Given the description of an element on the screen output the (x, y) to click on. 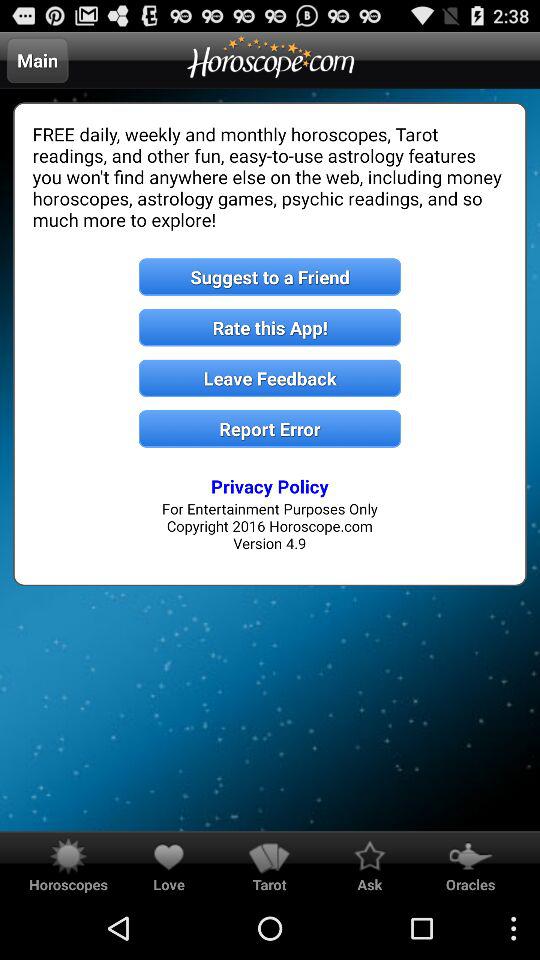
launch rate this app! button (269, 327)
